Given the description of an element on the screen output the (x, y) to click on. 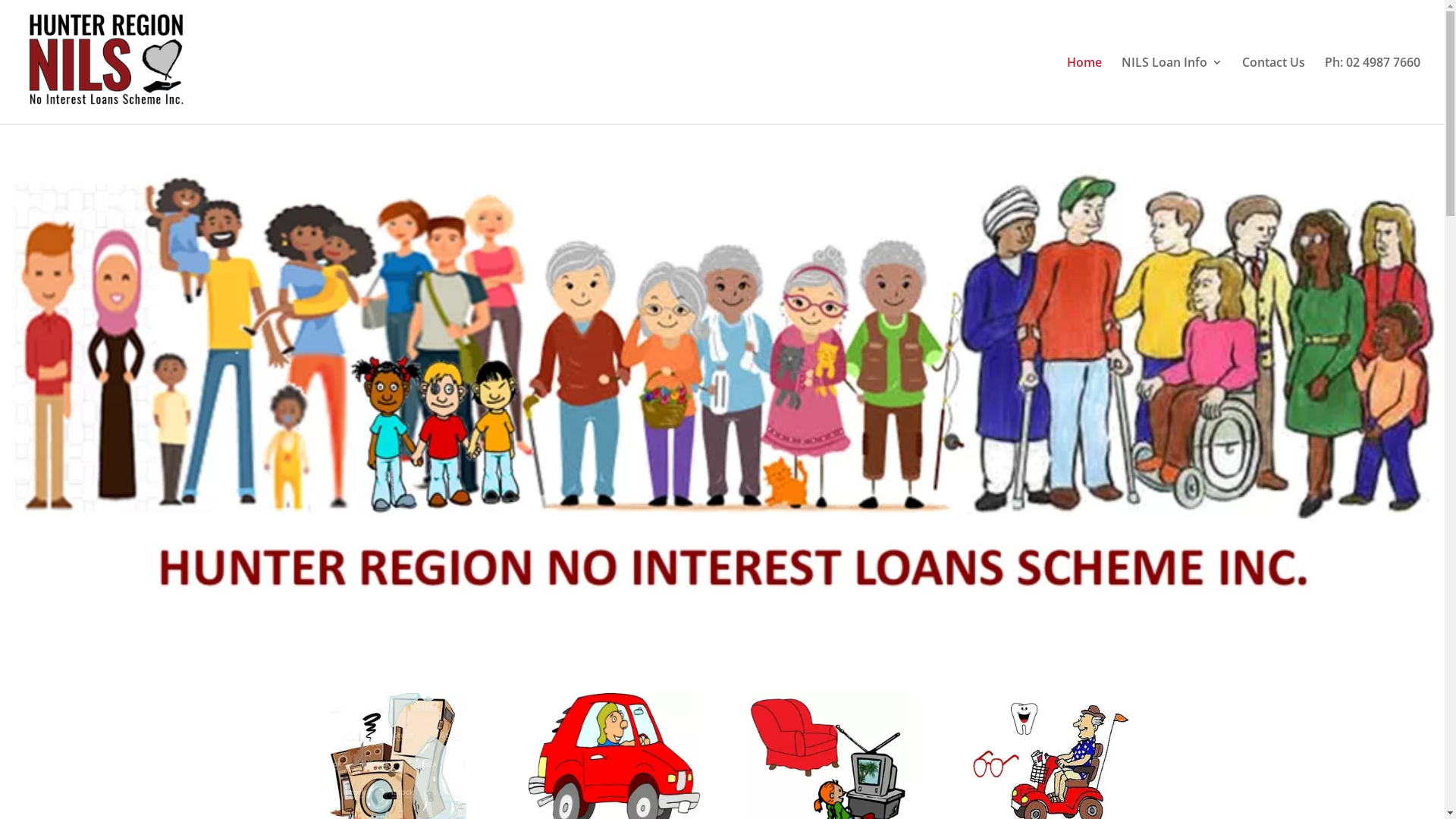
Contact Us Element type: text (1273, 90)
HRNILS Banner Jul 22 Element type: hover (722, 377)
NILS Loan Info Element type: text (1171, 90)
Home Element type: text (1083, 90)
Ph: 02 4987 7660 Element type: text (1372, 90)
